Given the description of an element on the screen output the (x, y) to click on. 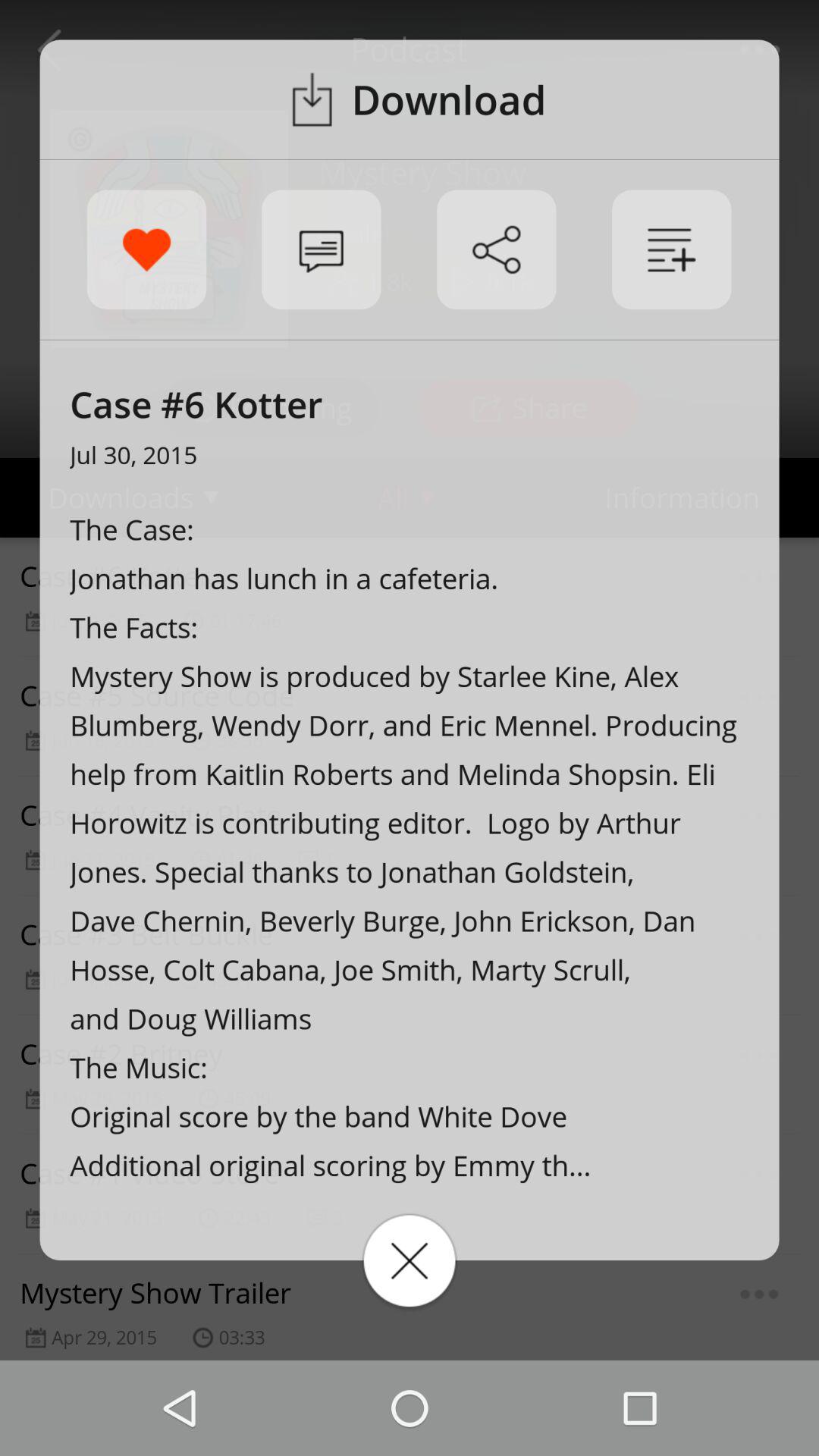
open the icon at the bottom (409, 1260)
